Given the description of an element on the screen output the (x, y) to click on. 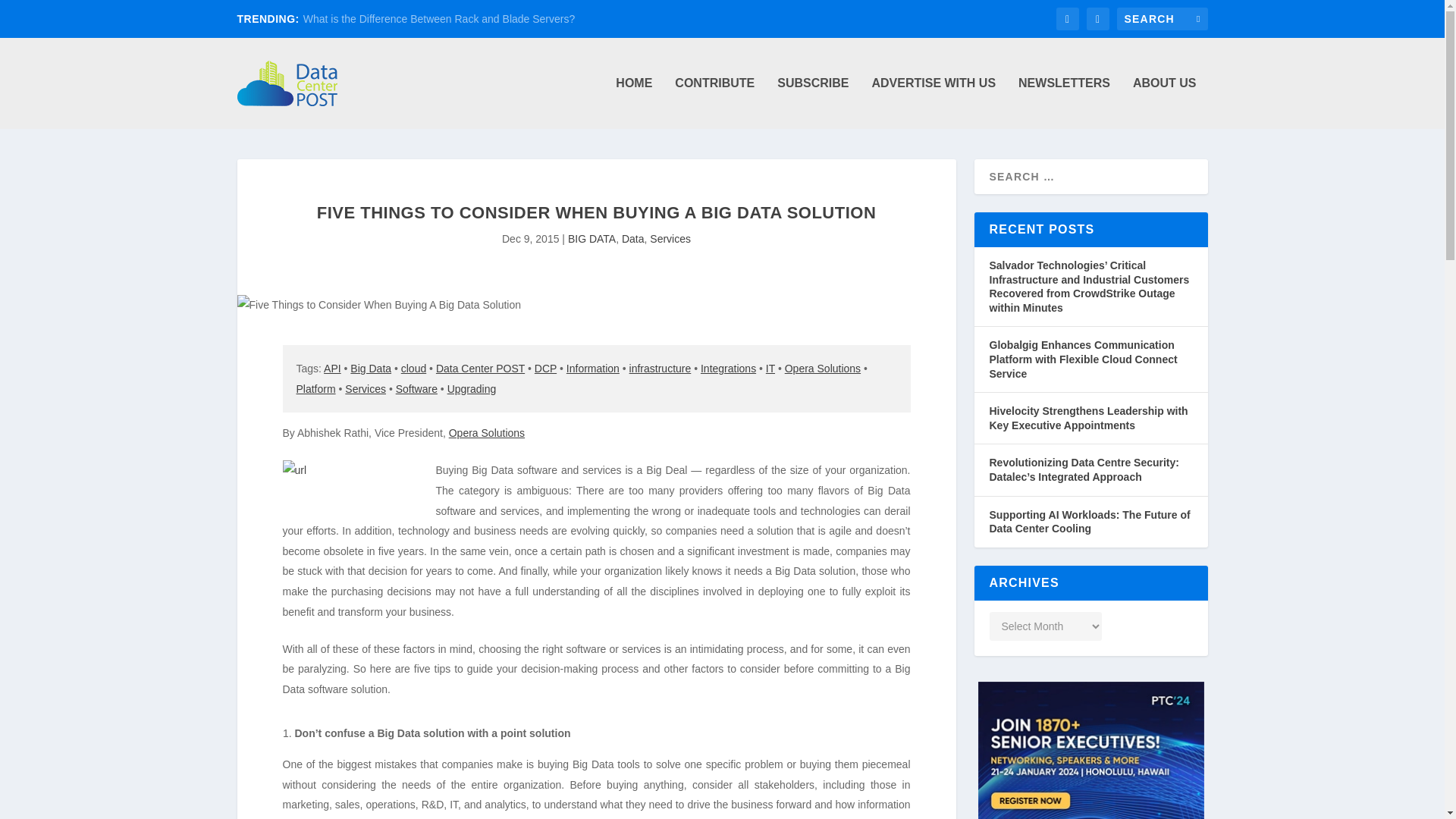
CONTRIBUTE (714, 102)
cloud (413, 368)
What is the Difference Between Rack and Blade Servers? (438, 19)
Opera Solutions (822, 368)
ADVERTISE WITH US (932, 102)
Platform (314, 388)
SUBSCRIBE (812, 102)
ABOUT US (1164, 102)
Integrations (727, 368)
BIG DATA (591, 238)
Software (417, 388)
Services (669, 238)
Services (365, 388)
NEWSLETTERS (1063, 102)
API (331, 368)
